Given the description of an element on the screen output the (x, y) to click on. 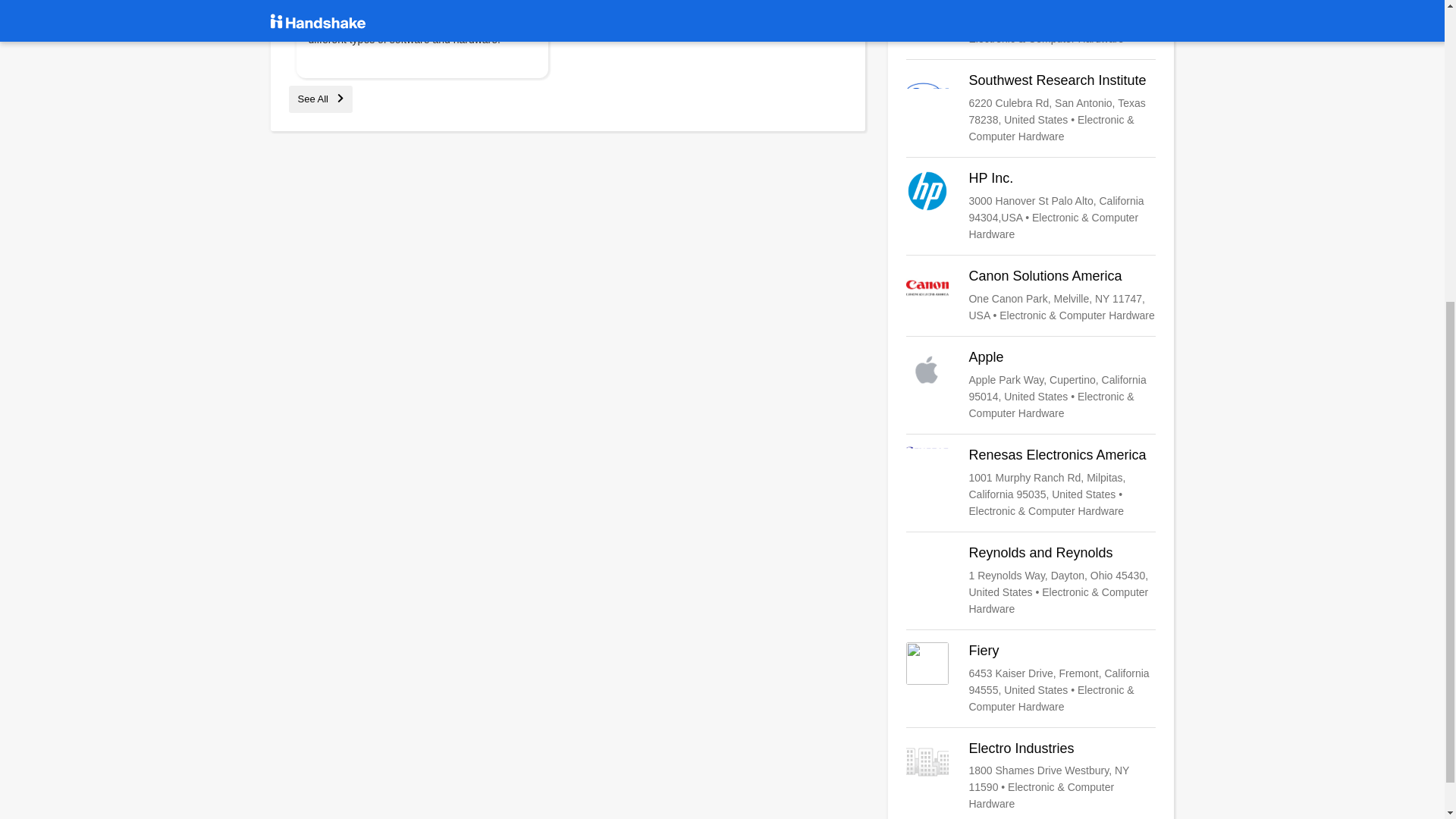
Renesas Electronics America (1030, 482)
PANASONIC (1030, 23)
Reynolds and Reynolds (1030, 580)
See All (320, 98)
HP Inc. (1030, 205)
Fiery (1030, 678)
Apple (1030, 384)
Electro Industries (1030, 776)
Southwest Research Institute (1030, 108)
Canon Solutions America (1030, 295)
